Given the description of an element on the screen output the (x, y) to click on. 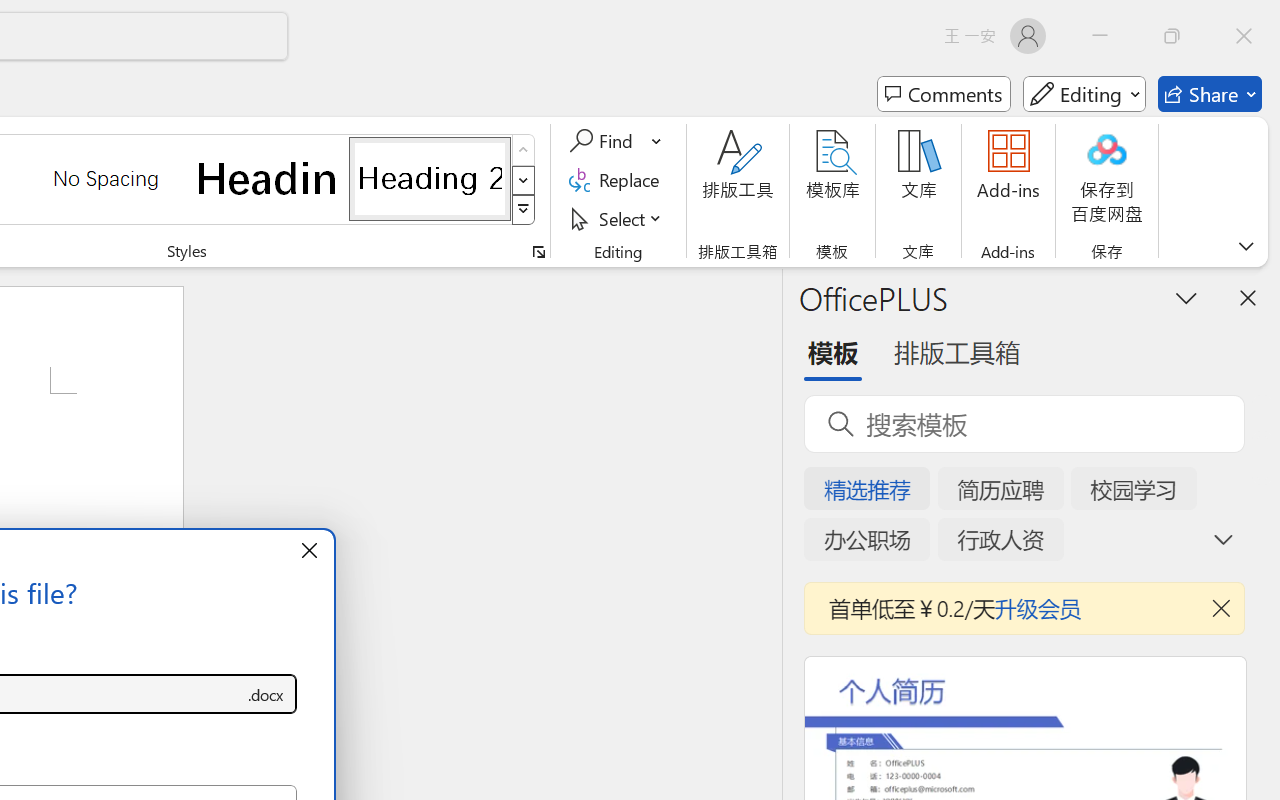
Mode (1083, 94)
Ribbon Display Options (1246, 245)
Row Down (523, 180)
Find (604, 141)
Find (616, 141)
Class: NetUIImage (523, 210)
Row up (523, 150)
Save as type (265, 694)
